Given the description of an element on the screen output the (x, y) to click on. 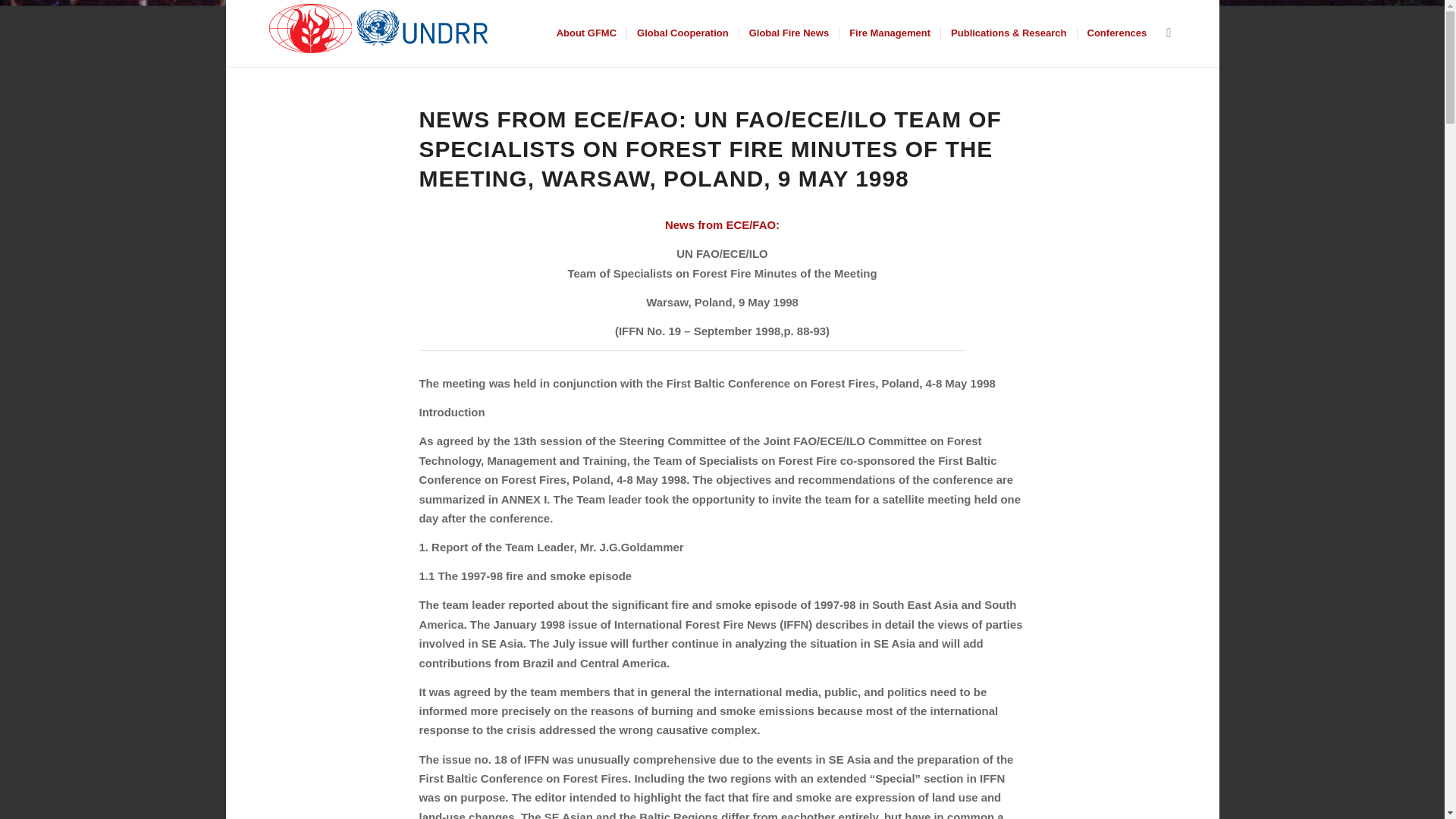
Global Cooperation (682, 33)
About GFMC (586, 33)
